Given the description of an element on the screen output the (x, y) to click on. 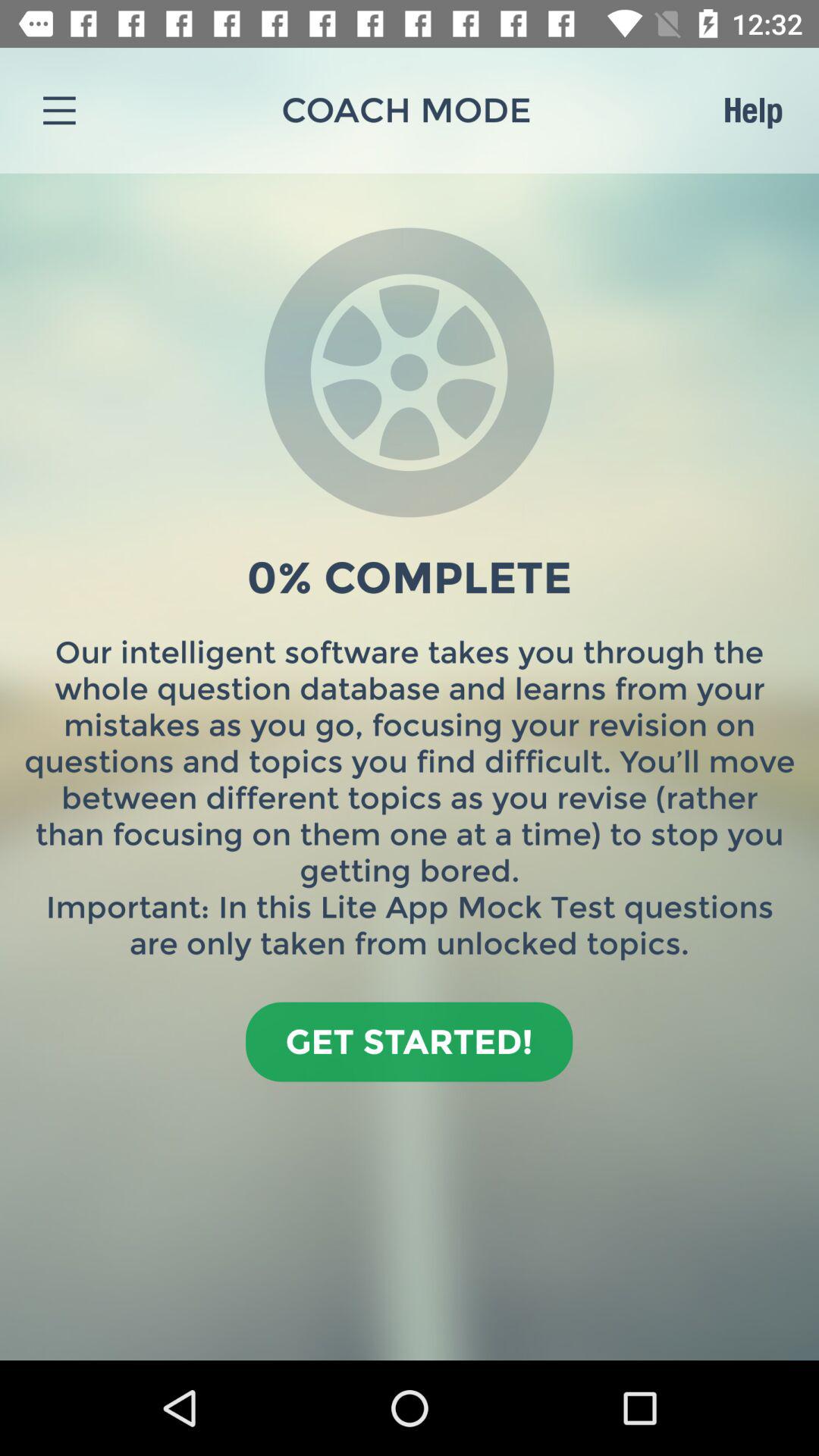
choose help (752, 110)
